Given the description of an element on the screen output the (x, y) to click on. 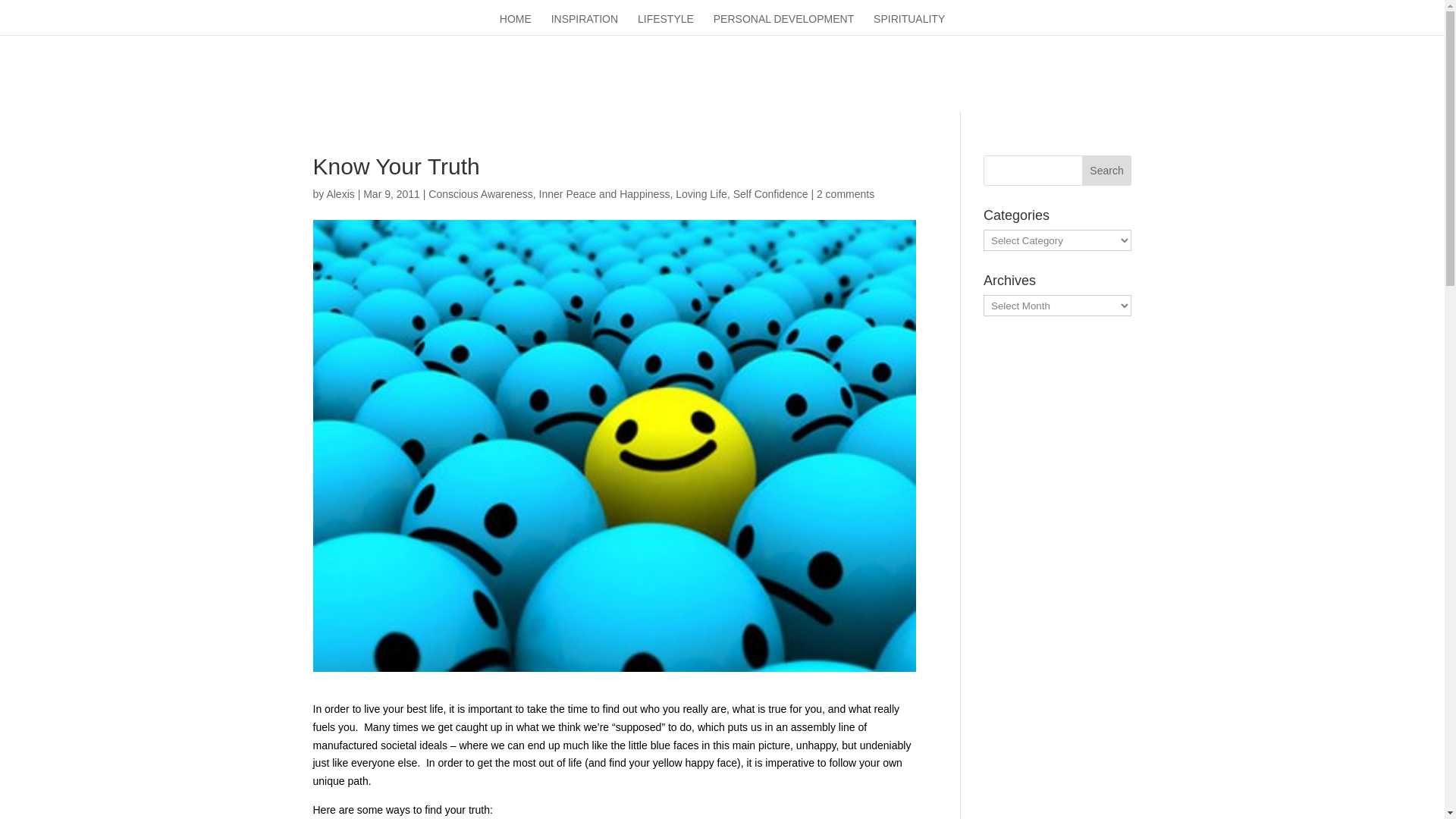
Posts by Alexis (339, 193)
HOME (515, 24)
Loving Life (700, 193)
PERSONAL DEVELOPMENT (783, 24)
Search (1106, 170)
Conscious Awareness (480, 193)
SPIRITUALITY (908, 24)
Self Confidence (770, 193)
Inner Peace and Happiness (603, 193)
LIFESTYLE (665, 24)
Search (1106, 170)
INSPIRATION (584, 24)
Alexis (339, 193)
2 comments (845, 193)
